Given the description of an element on the screen output the (x, y) to click on. 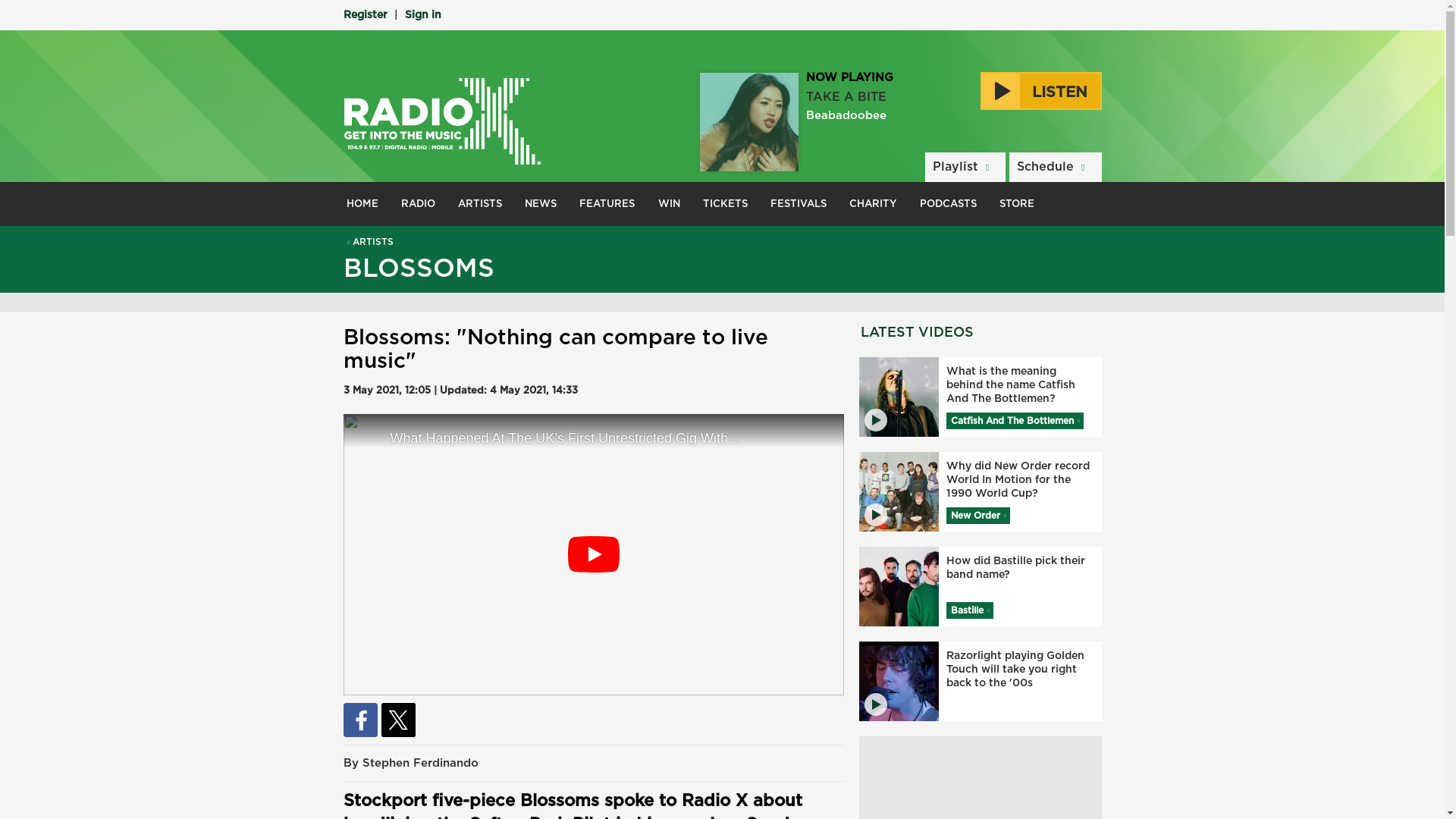
WIN (668, 203)
RADIO (418, 203)
Register (364, 14)
FESTIVALS (798, 203)
Playlist (965, 166)
Schedule (1054, 166)
NEWS (540, 203)
CHARITY (873, 203)
Catfish And The Bottlemen (1014, 420)
